Given the description of an element on the screen output the (x, y) to click on. 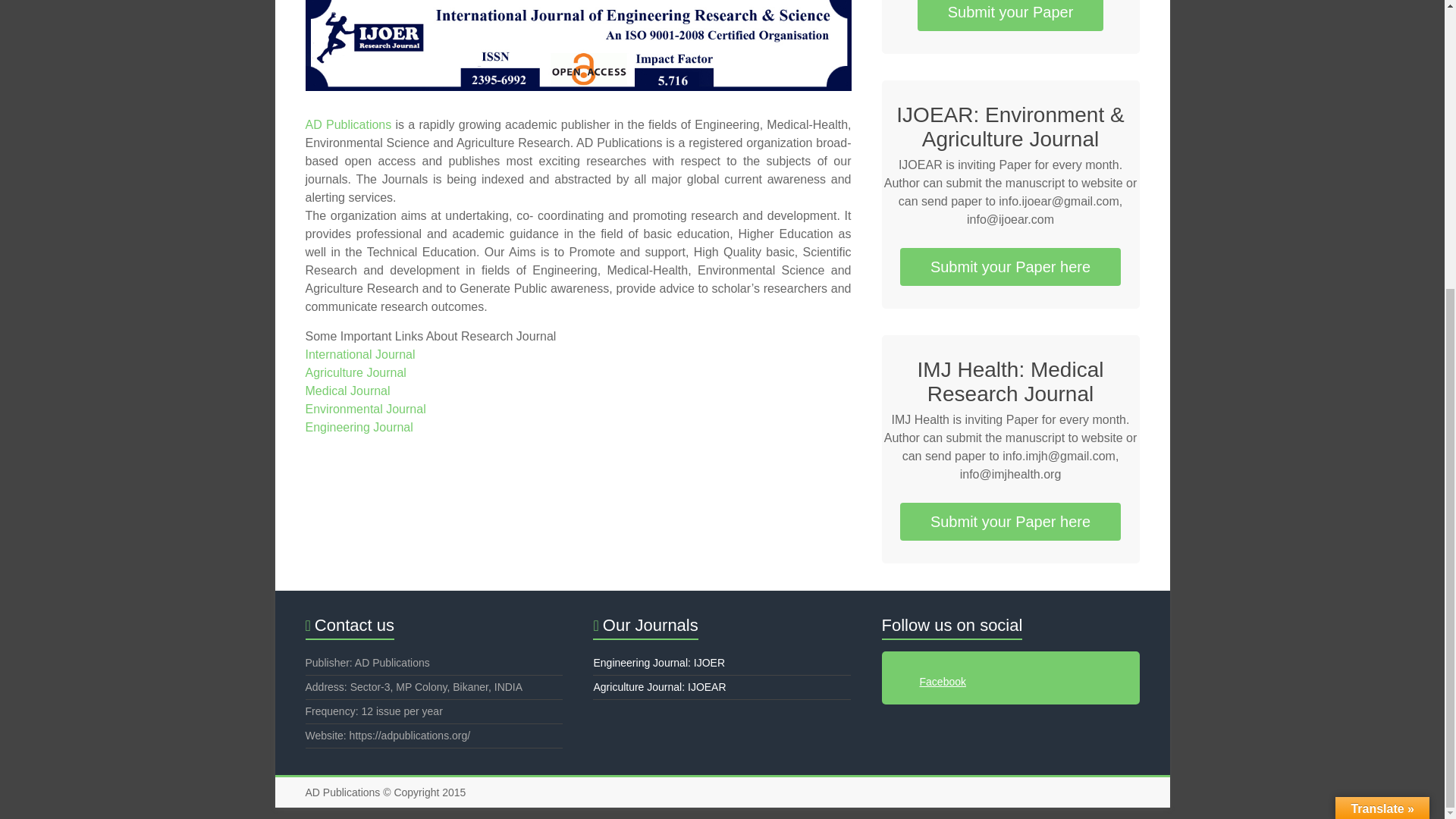
Submit your Paper (1010, 15)
Submit your Paper here (1010, 266)
Submit your Paper here (1010, 521)
